Given the description of an element on the screen output the (x, y) to click on. 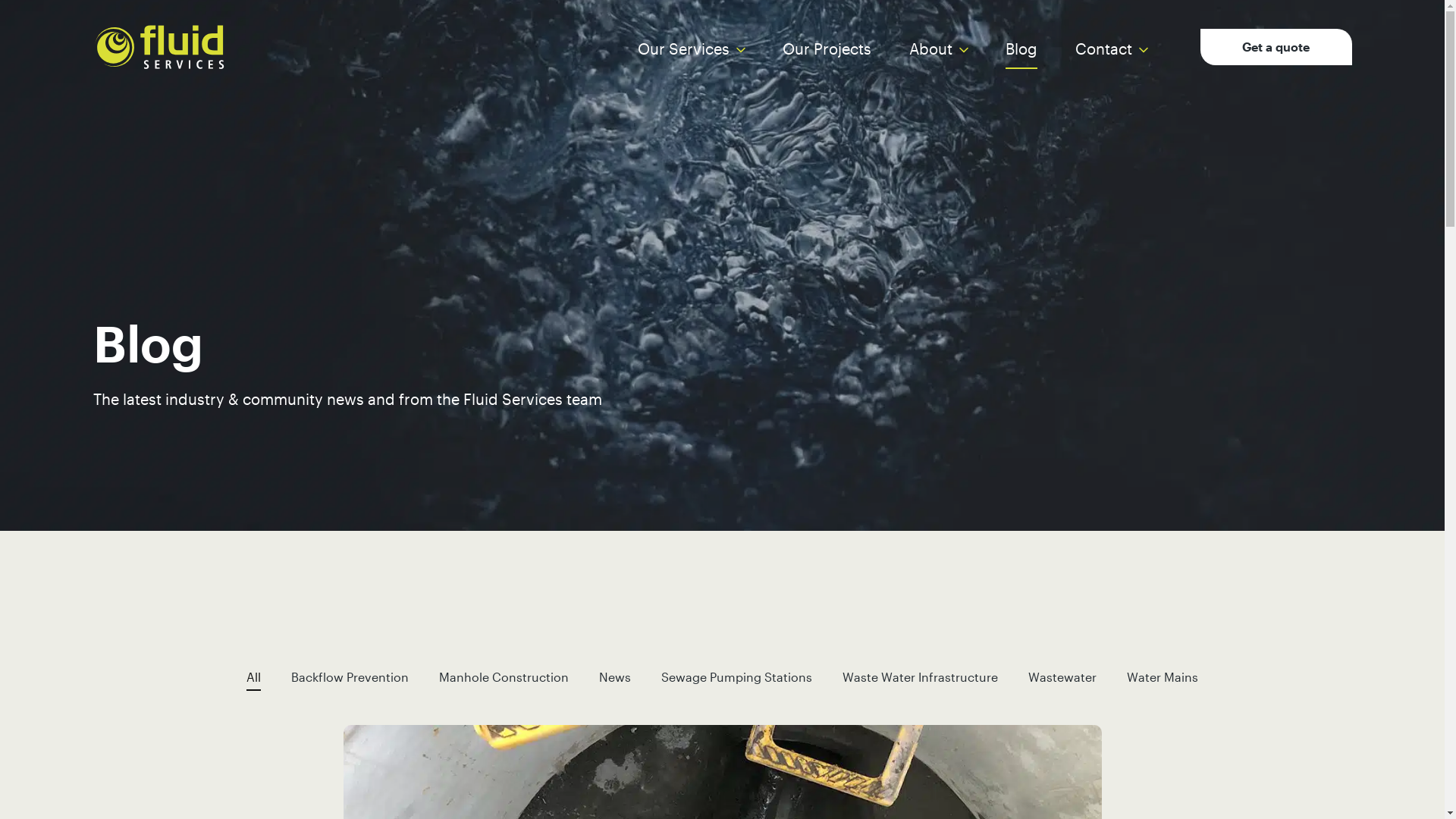
All Element type: text (253, 678)
About Element type: text (929, 48)
Wastewater Element type: text (1062, 678)
Blog Element type: text (1021, 48)
Manhole Construction Element type: text (503, 678)
Fluid Services Element type: hover (160, 49)
Waste Water Infrastructure Element type: text (919, 678)
Get a quote Element type: text (1275, 46)
News Element type: text (614, 678)
Backflow Prevention Element type: text (349, 678)
Water Mains Element type: text (1162, 678)
Our Services Element type: text (682, 48)
Sewage Pumping Stations Element type: text (736, 678)
Our Projects Element type: text (826, 48)
Contact Element type: text (1103, 48)
